Given the description of an element on the screen output the (x, y) to click on. 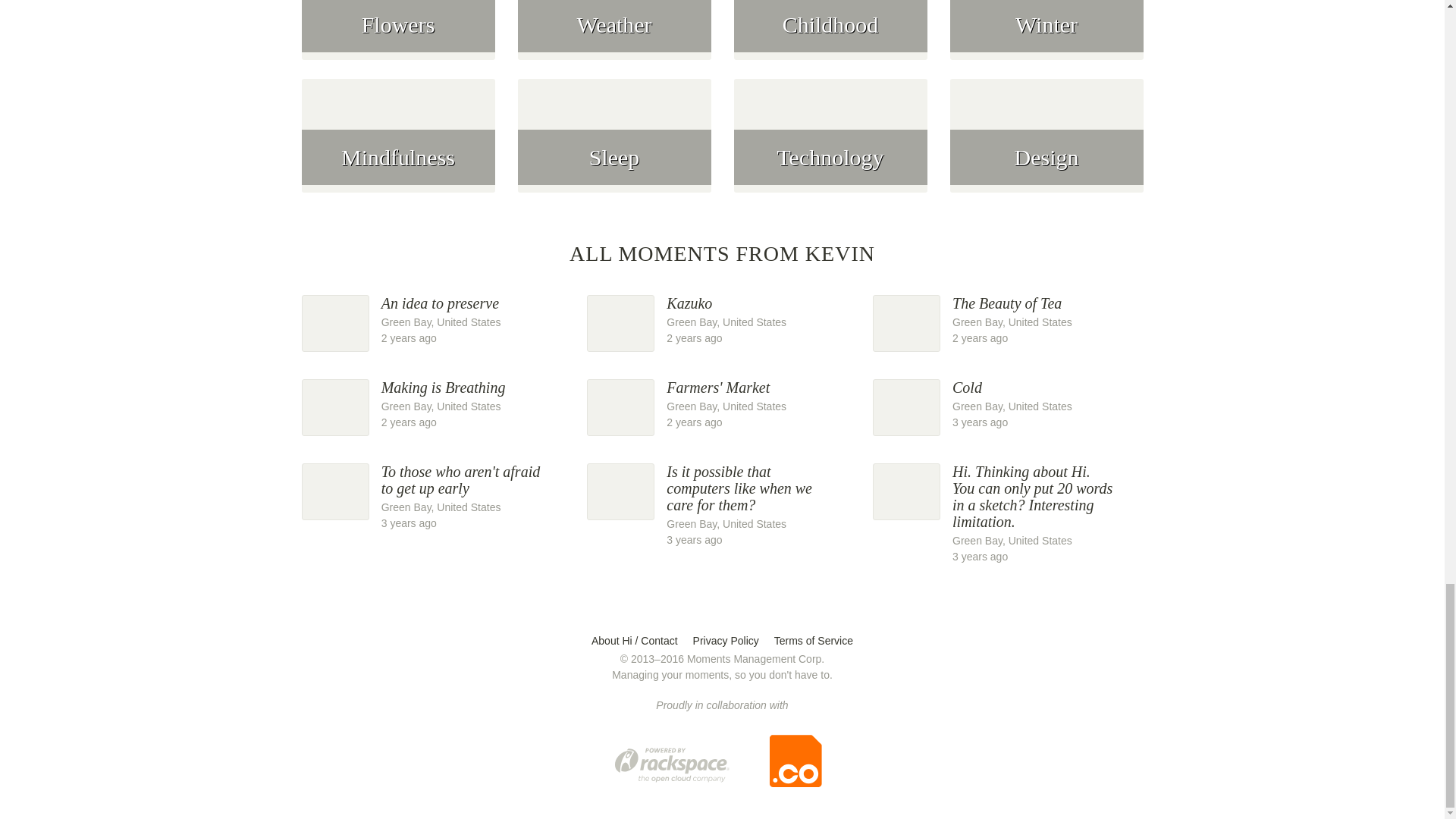
Mindfulness (397, 144)
Childhood (1007, 319)
Winter (829, 39)
Flowers (1046, 39)
Technology (397, 39)
Weather (436, 319)
Sleep (721, 319)
